Given the description of an element on the screen output the (x, y) to click on. 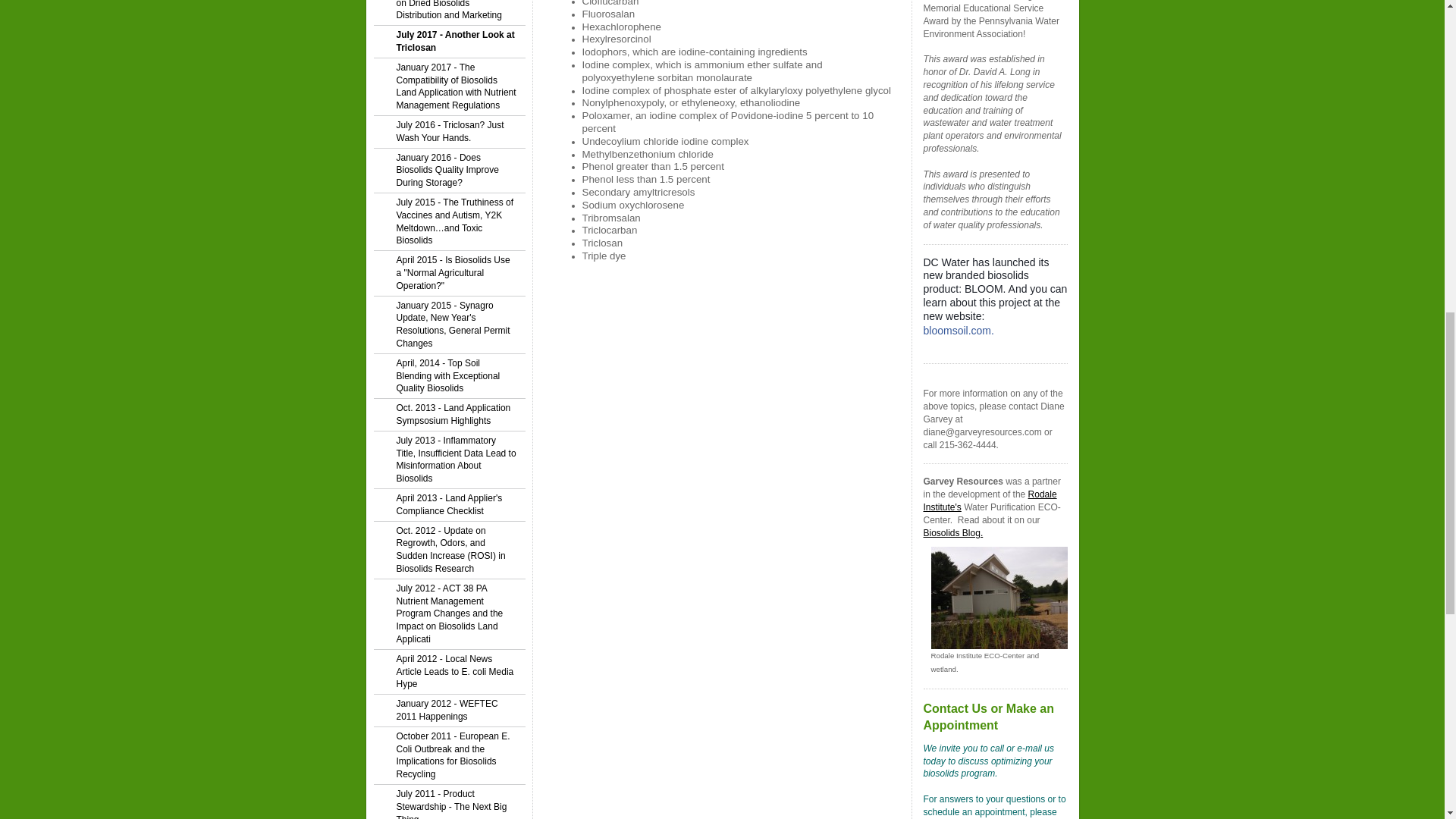
April 2013 - Land Applier's Compliance Checklist (448, 504)
January 2012 - WEFTEC 2011 Happenings (448, 710)
April 2012 - Local News Article Leads to E. coli Media Hype (448, 672)
July 2016 - Triclosan? Just Wash Your Hands. (448, 132)
July 2011 - Product Stewardship - The Next Big Thing (448, 801)
Rodale Institute ECO-Center and wetland. (999, 603)
Oct. 2013 - Land Application Sympsosium Highlights (448, 414)
